Given the description of an element on the screen output the (x, y) to click on. 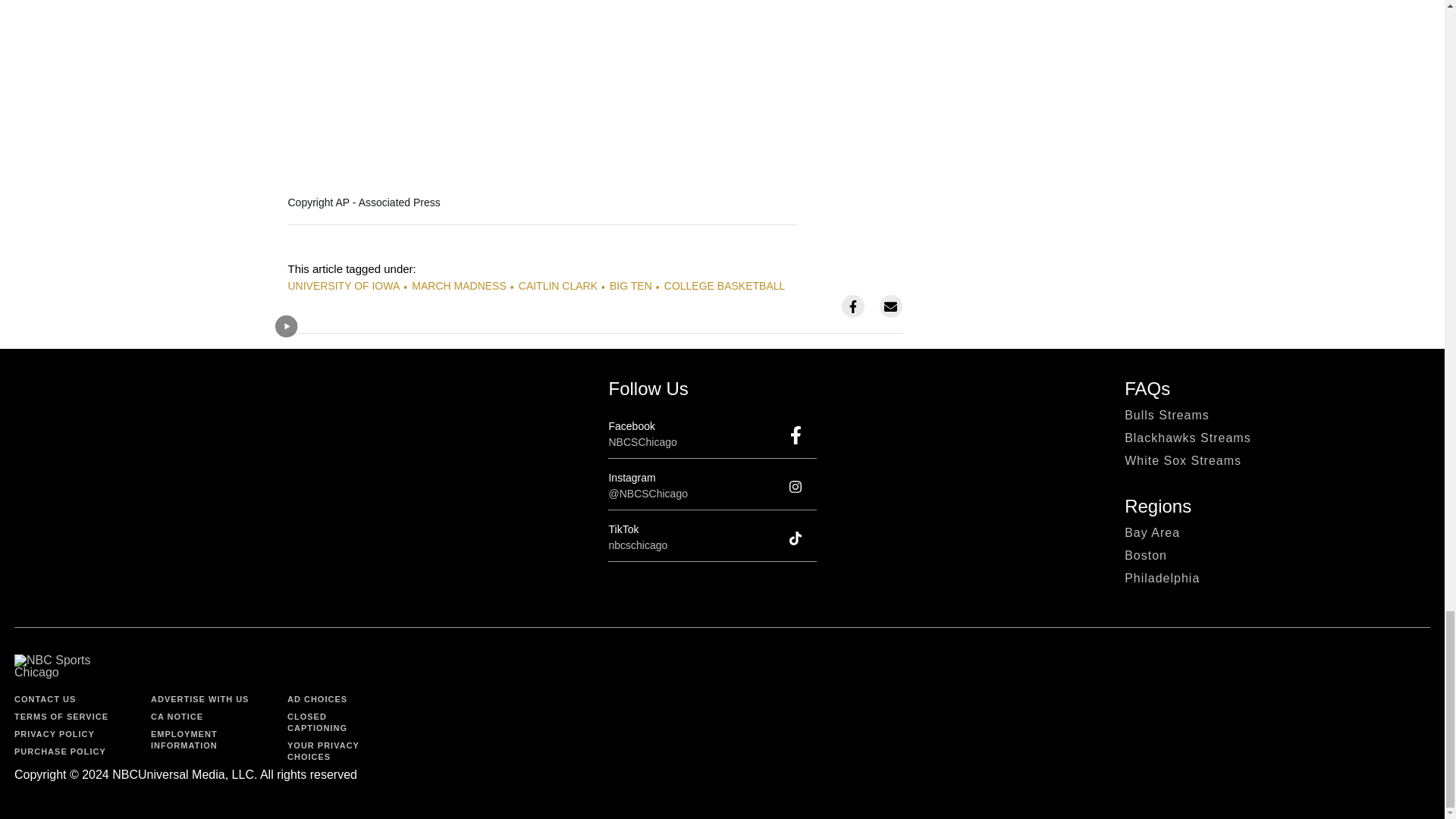
CAITLIN CLARK (557, 285)
MARCH MADNESS (458, 285)
COLLEGE BASKETBALL (724, 285)
UNIVERSITY OF IOWA (344, 285)
BIG TEN (631, 285)
